Given the description of an element on the screen output the (x, y) to click on. 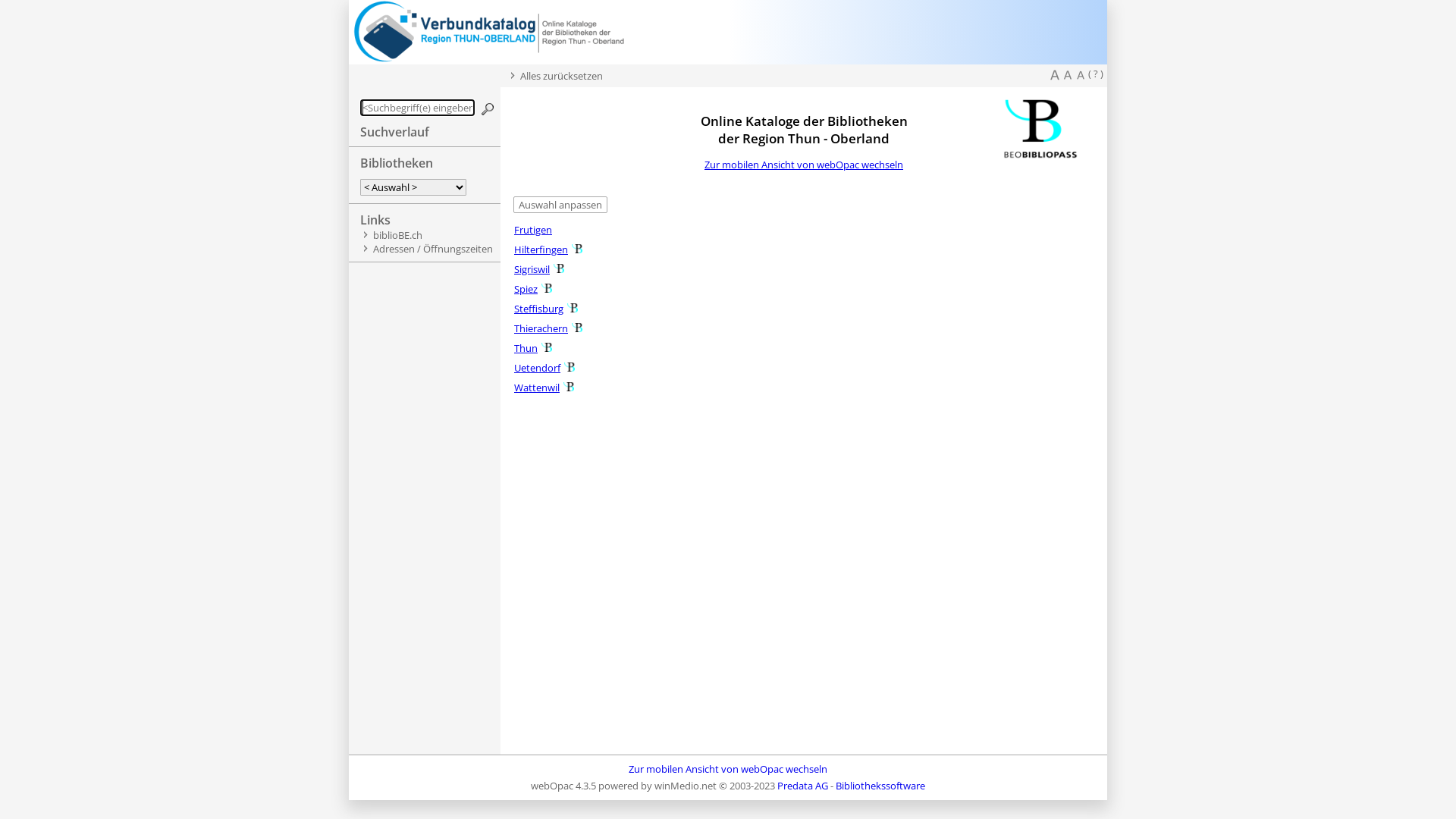
Predata AG Element type: text (802, 785)
Beo BiblioPass Element type: hover (576, 327)
Auswahl anpassen Element type: text (560, 204)
Uetendorf Element type: text (537, 367)
Beo BiblioPass Element type: hover (546, 346)
Zur mobilen Ansicht von webOpac wechseln Element type: text (803, 164)
Thierachern Element type: text (540, 328)
Beo BiblioPass Element type: hover (569, 366)
biblioBE.ch Element type: text (397, 234)
Wattenwil Element type: text (536, 387)
Go! Element type: hover (487, 109)
Hilterfingen Element type: text (540, 249)
Spiez Element type: text (525, 288)
Beo BiblioPass Element type: hover (558, 268)
Thun Element type: text (525, 347)
Beo BiblioPass Element type: hover (546, 287)
Frutigen Element type: text (533, 229)
Beo BiblioPass Element type: hover (568, 386)
Beo BiblioPass Element type: hover (576, 248)
( ? ) Element type: text (1095, 73)
Bibliothekssoftware Element type: text (880, 785)
Zur mobilen Ansicht von webOpac wechseln Element type: text (727, 768)
Sigriswil Element type: text (531, 269)
Beo BiblioPass Element type: hover (572, 307)
Steffisburg Element type: text (538, 308)
